Given the description of an element on the screen output the (x, y) to click on. 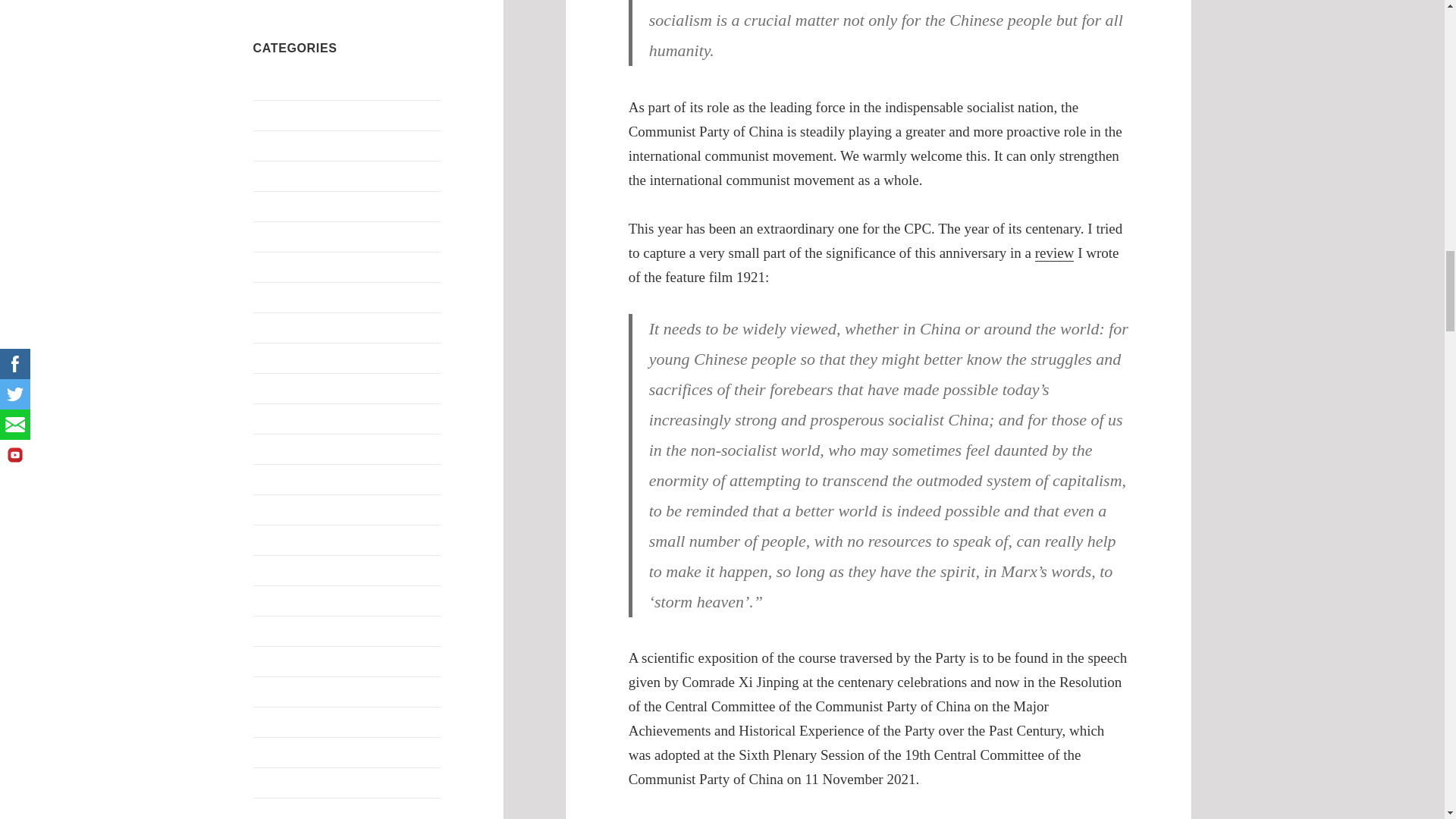
Agriculture (280, 114)
Asia (264, 144)
Africa (268, 83)
